Given the description of an element on the screen output the (x, y) to click on. 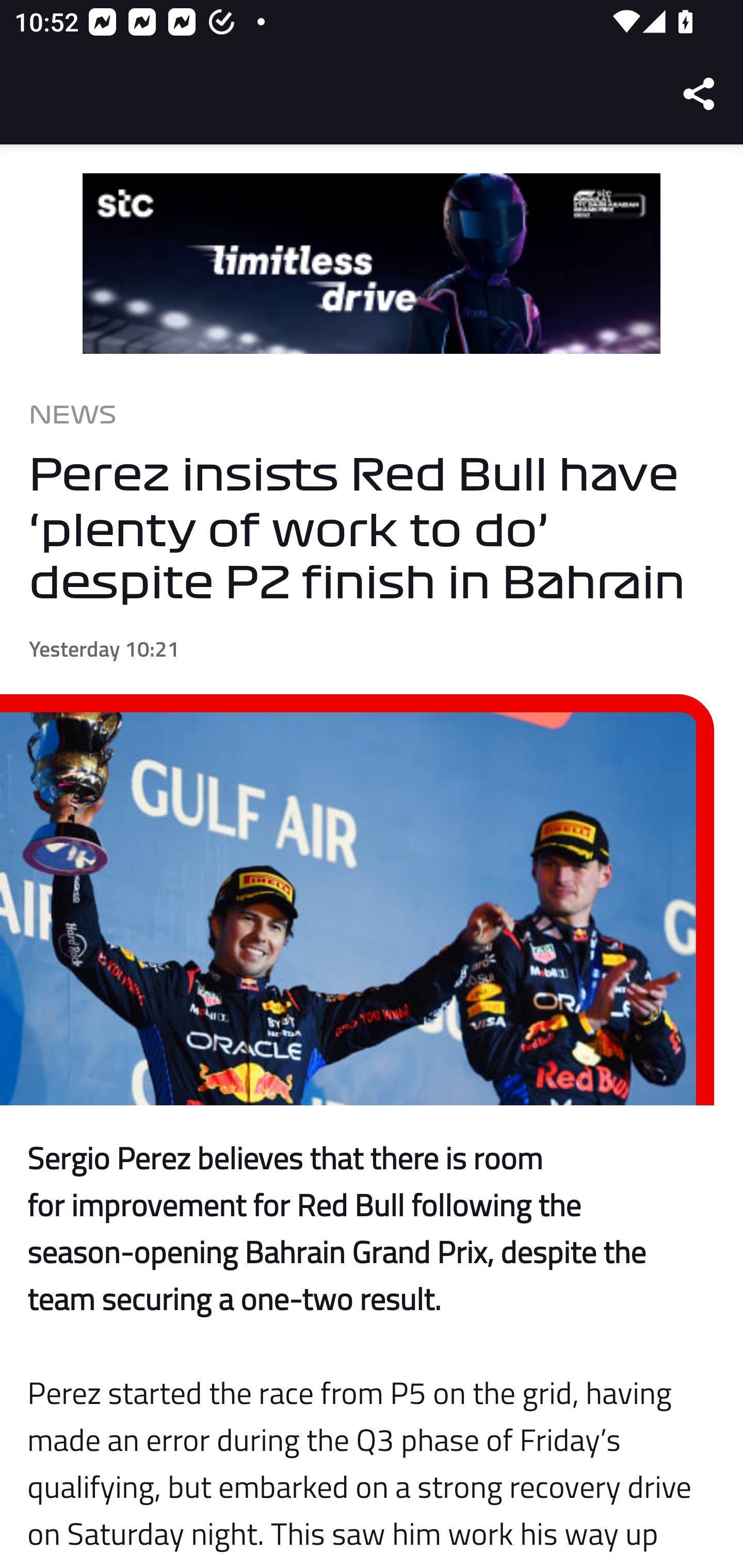
Share (699, 93)
who-we-are (371, 264)
